Given the description of an element on the screen output the (x, y) to click on. 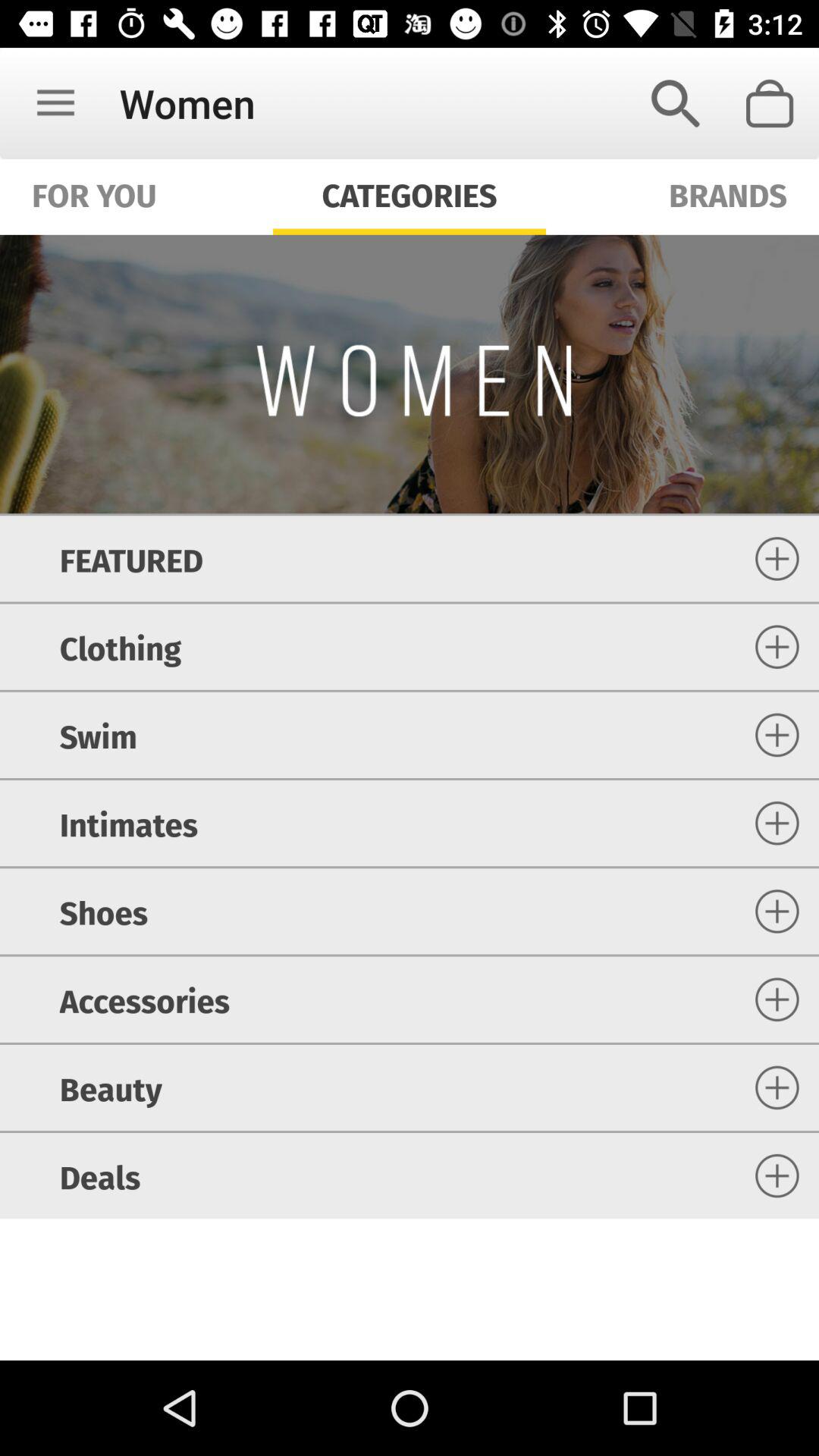
press icon above shoes icon (128, 823)
